Given the description of an element on the screen output the (x, y) to click on. 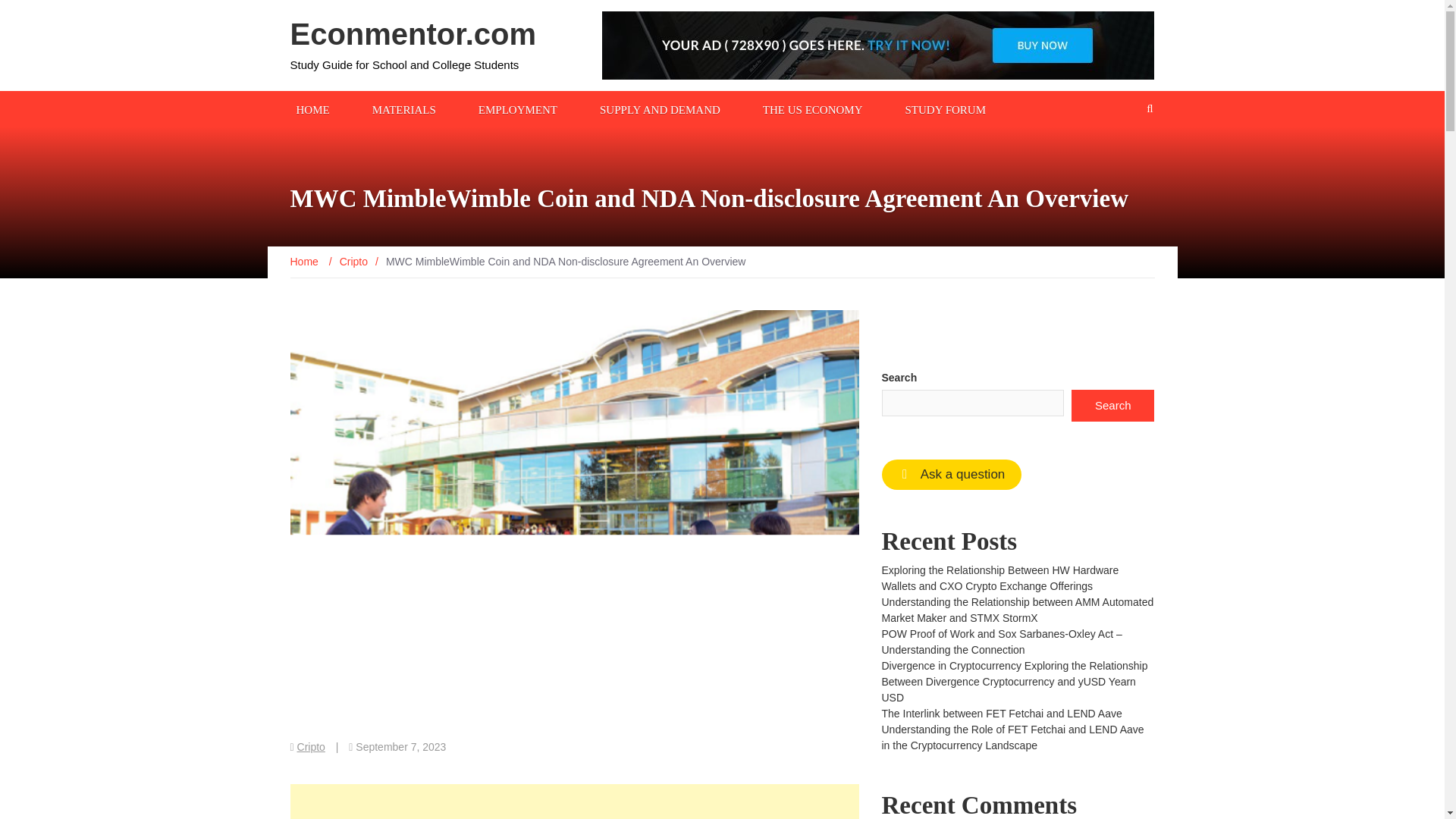
Cripto (310, 746)
MATERIALS (404, 108)
EMPLOYMENT (517, 108)
Advertisement (574, 801)
Search (1112, 405)
STUDY FORUM (944, 108)
Cripto (353, 261)
Home (304, 261)
